Given the description of an element on the screen output the (x, y) to click on. 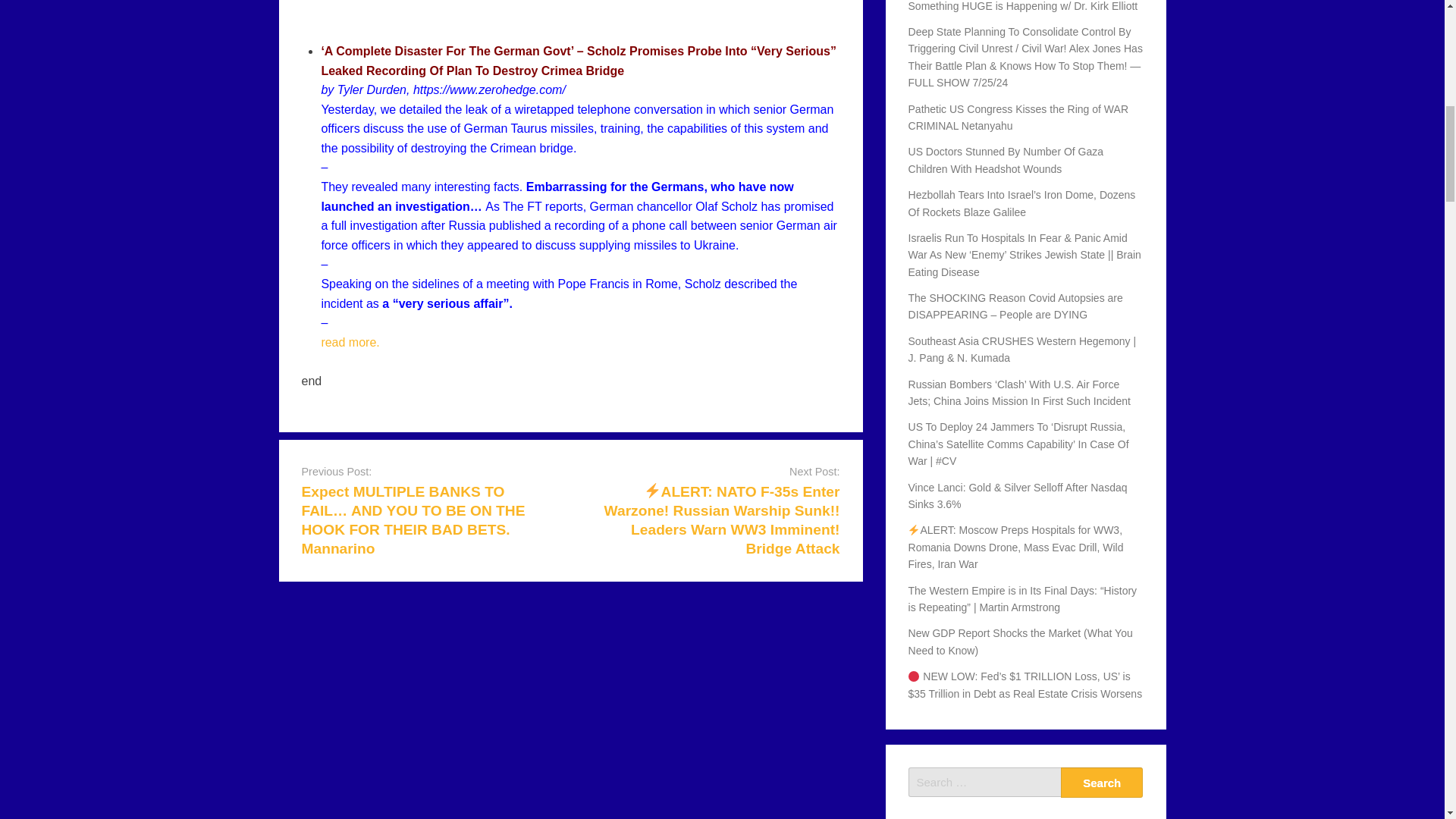
As The FT reports,  (536, 205)
Search (1101, 782)
Search (1101, 782)
read more. (349, 341)
Search (1101, 782)
